Given the description of an element on the screen output the (x, y) to click on. 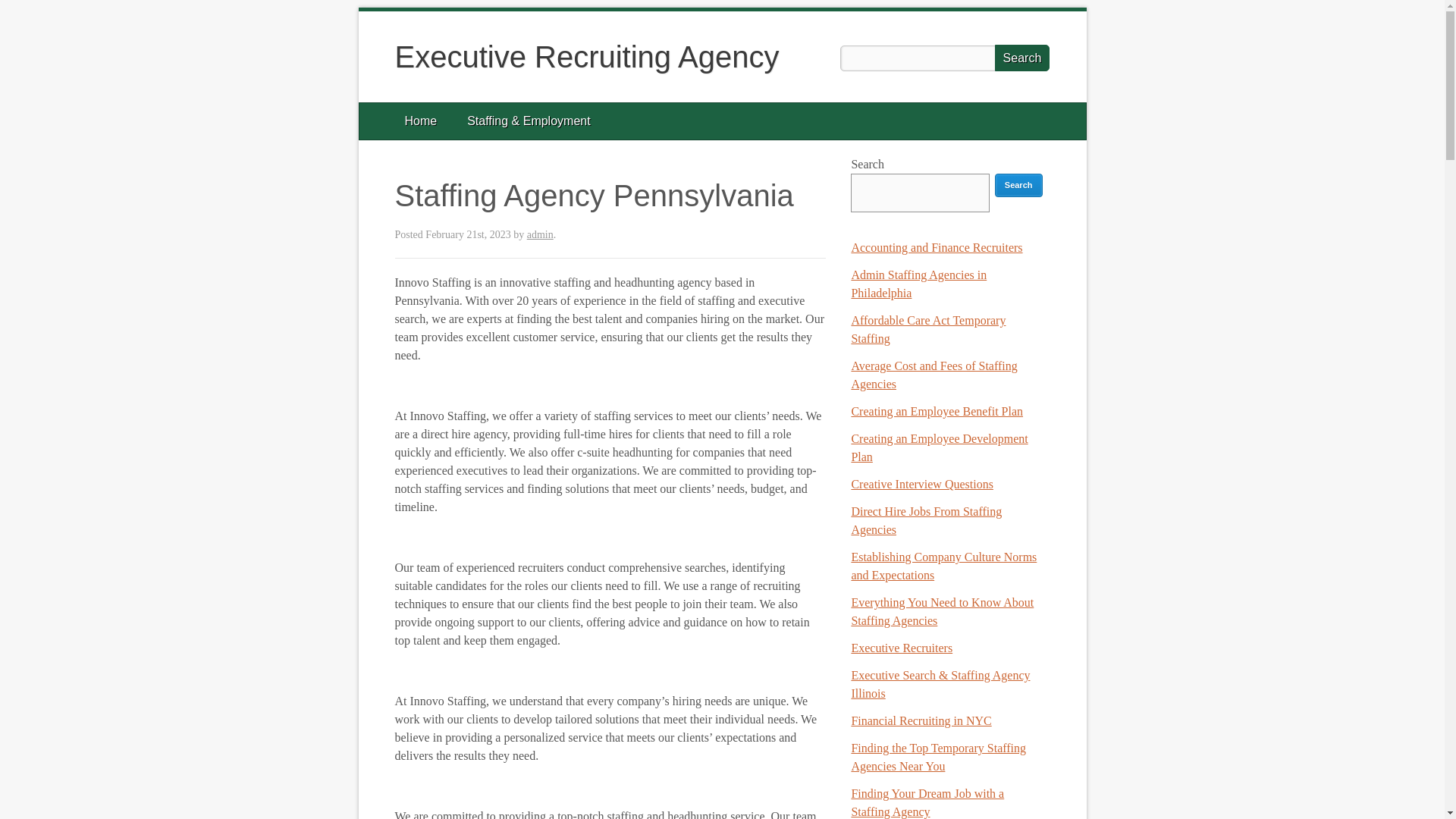
Admin Staffing Agencies in Philadelphia (918, 283)
admin (540, 234)
Finding Your Dream Job with a Staffing Agency (927, 802)
Creative Interview Questions (921, 483)
Search (1021, 58)
Affordable Care Act Temporary Staffing (928, 328)
Executive Recruiters (901, 647)
Average Cost and Fees of Staffing Agencies (933, 374)
Finding the Top Temporary Staffing Agencies Near You (938, 757)
Home (421, 121)
